Given the description of an element on the screen output the (x, y) to click on. 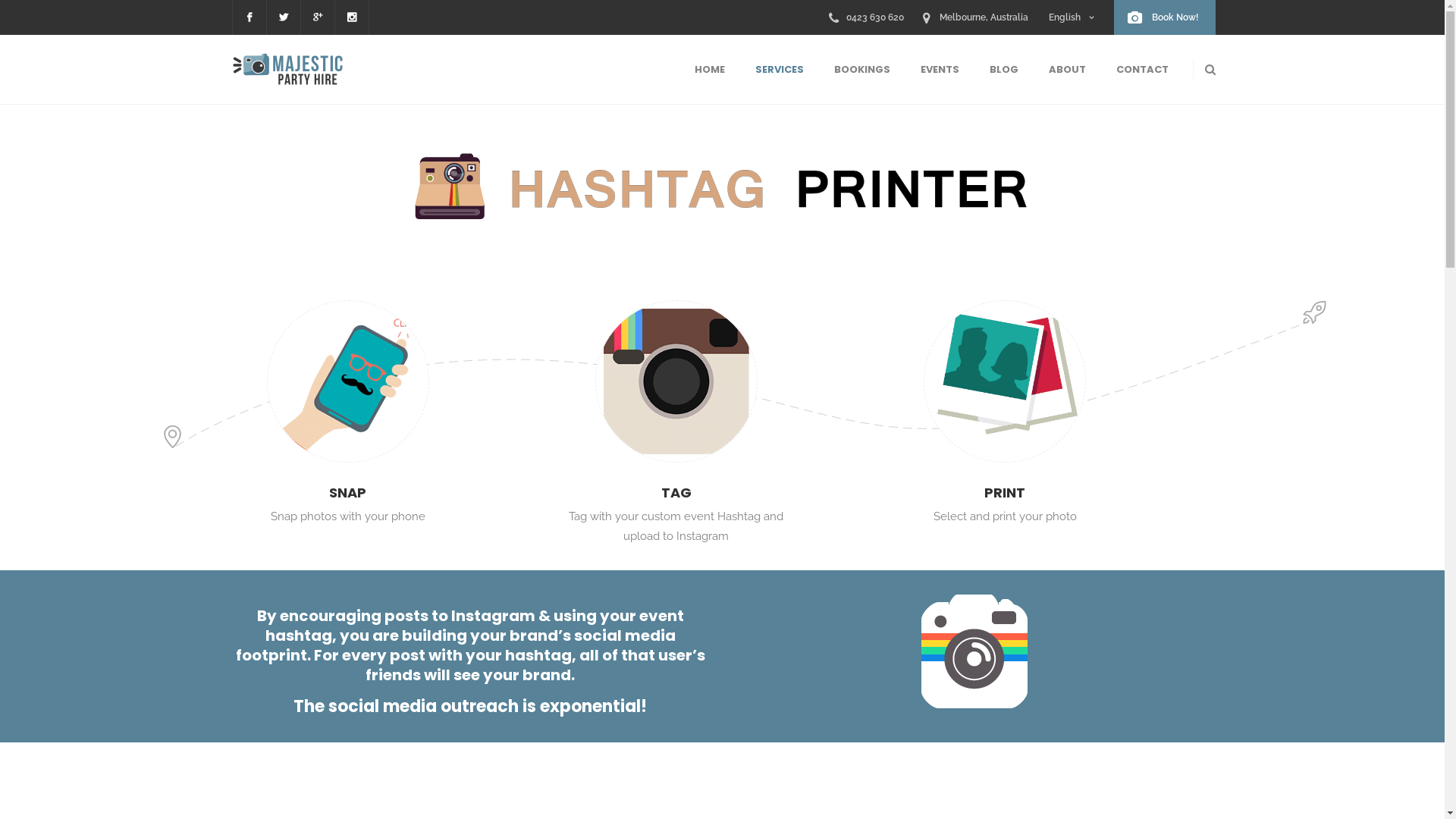
BLOG Element type: text (1002, 68)
SERVICES Element type: text (779, 68)
ABOUT Element type: text (1066, 68)
EVENTS Element type: text (939, 68)
Search Element type: text (1171, 128)
BOOKINGS Element type: text (862, 68)
Book Now! Element type: text (1163, 17)
CONTACT Element type: text (1142, 68)
 English Element type: text (1070, 17)
HOME Element type: text (709, 68)
